Given the description of an element on the screen output the (x, y) to click on. 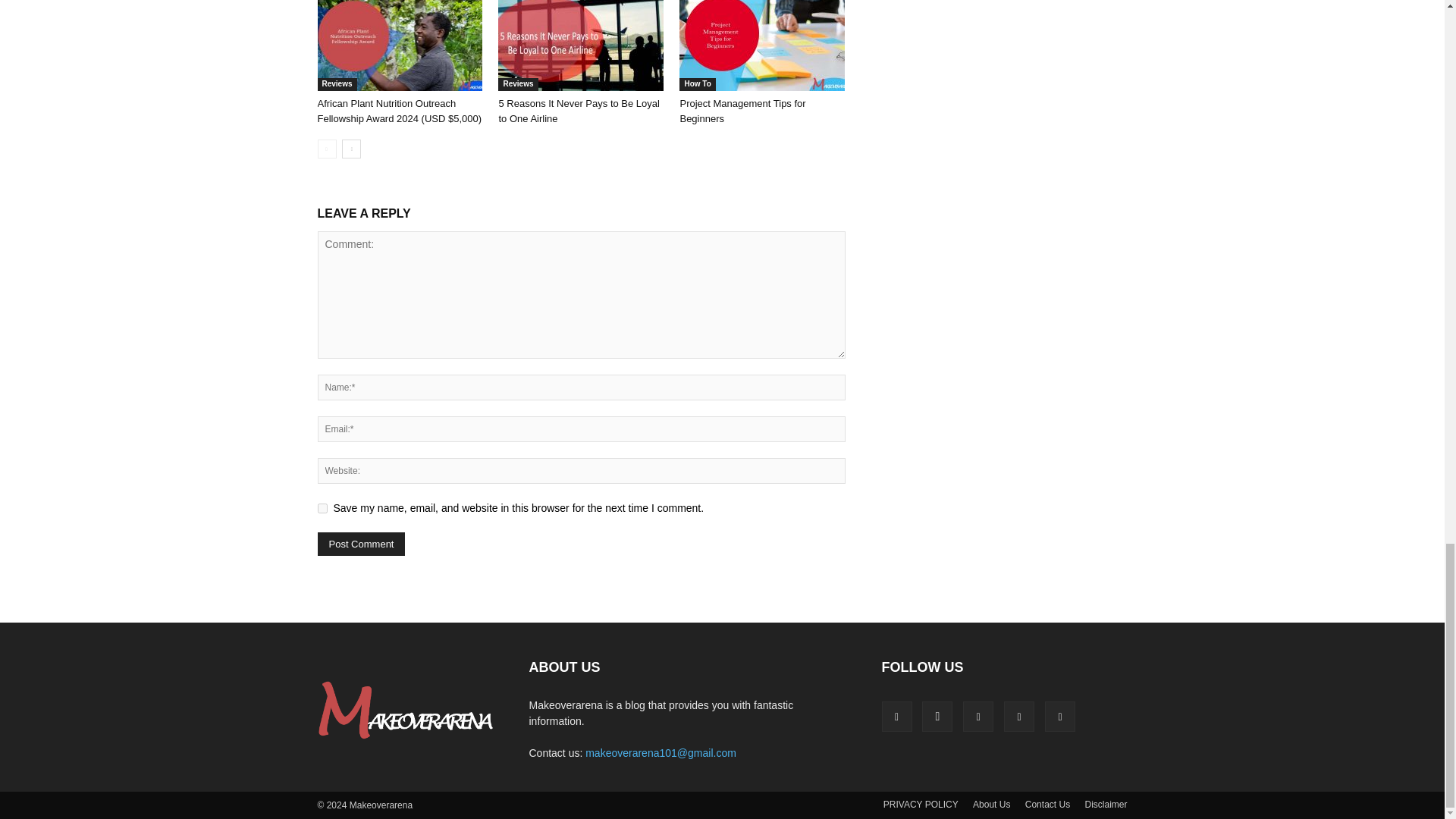
Post Comment (360, 544)
yes (321, 508)
